Given the description of an element on the screen output the (x, y) to click on. 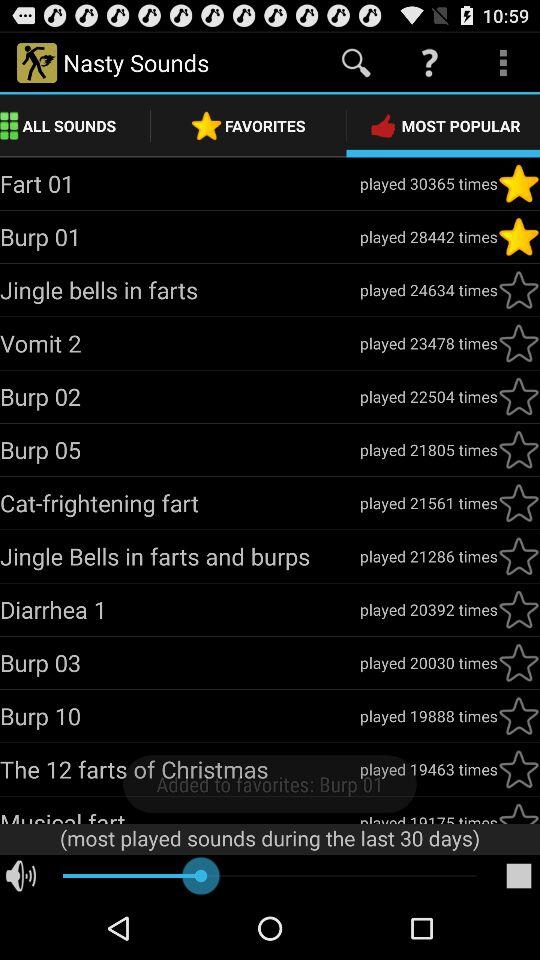
swipe to the played 20030 times icon (428, 662)
